Given the description of an element on the screen output the (x, y) to click on. 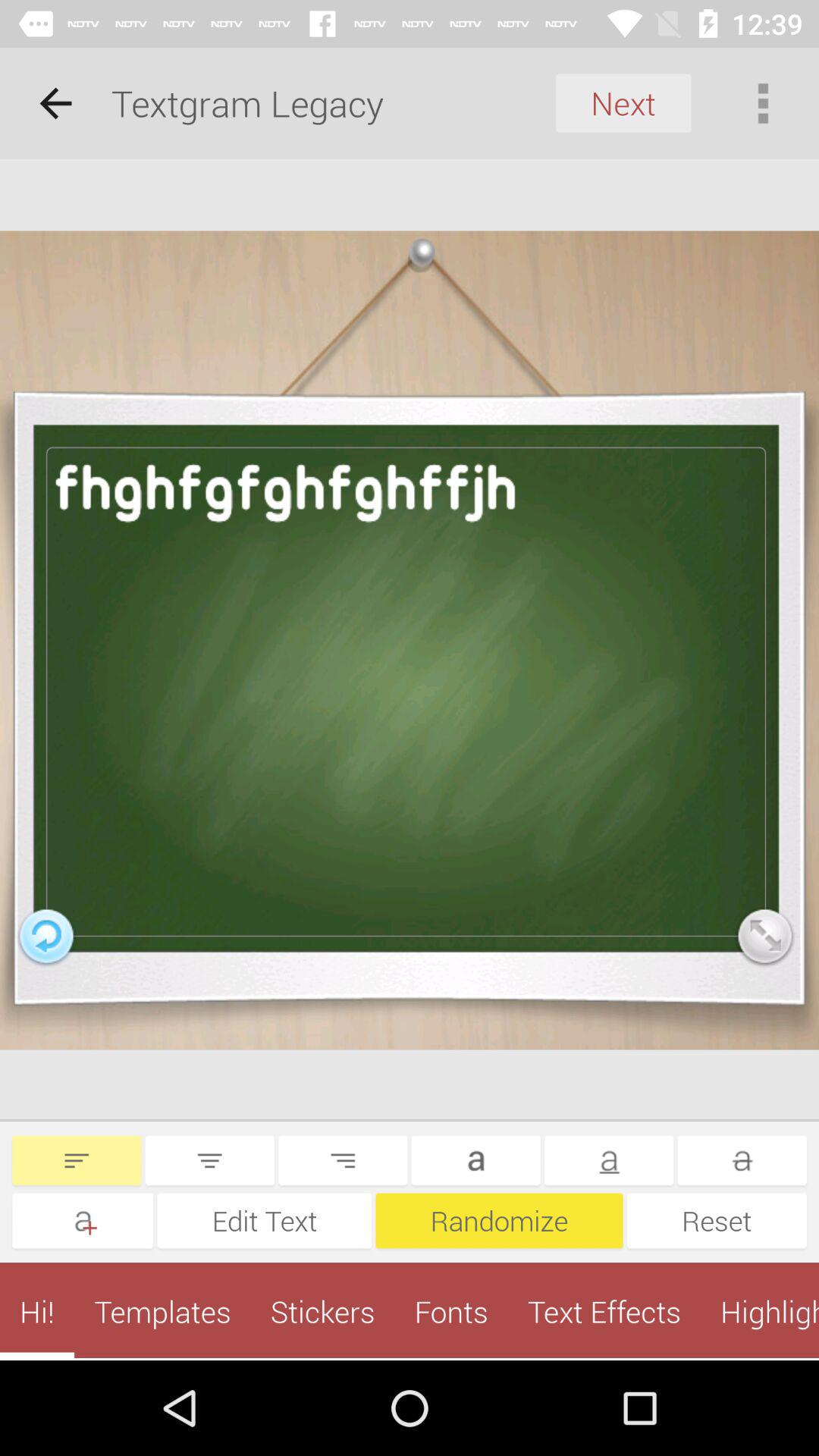
left align text (76, 1160)
